Given the description of an element on the screen output the (x, y) to click on. 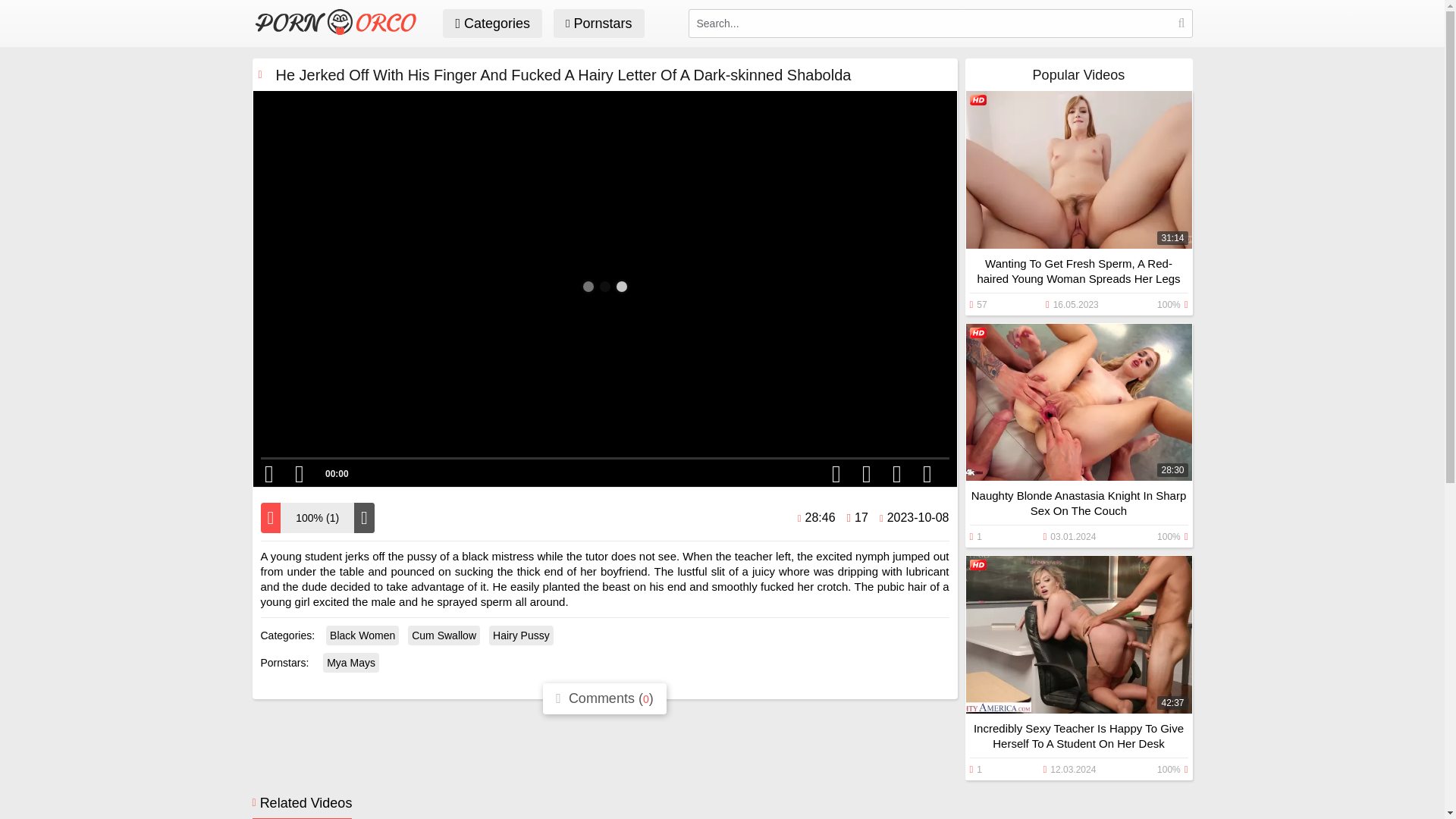
Pornstars (599, 23)
Mya Mays (350, 662)
Categories (491, 23)
Categories (491, 23)
Hairy Pussy (521, 635)
Hairy Pussy (521, 635)
Black Women (362, 635)
Cum Swallow (443, 635)
Pornstars (599, 23)
